Given the description of an element on the screen output the (x, y) to click on. 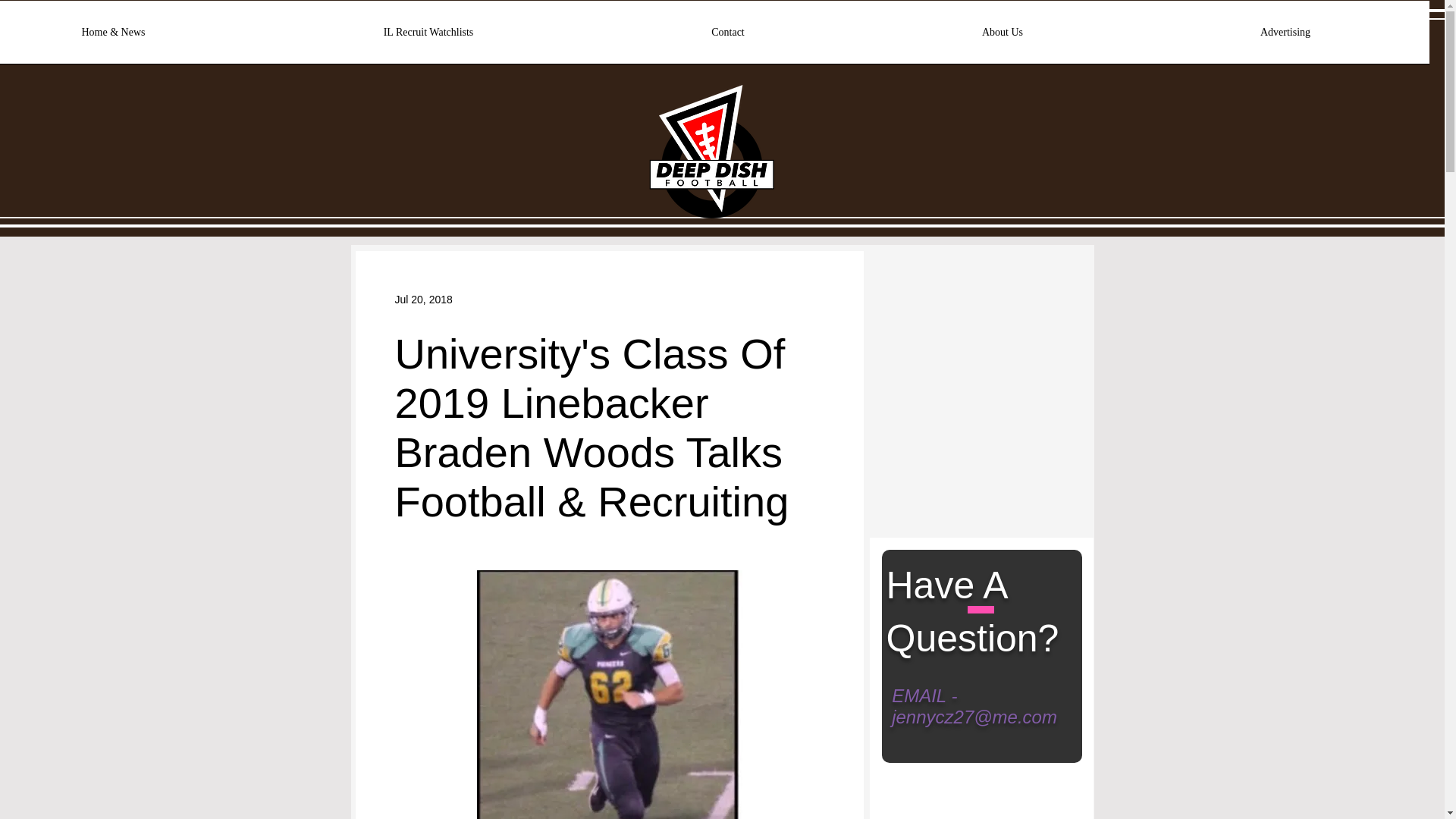
Contact (727, 36)
IL Recruit Watchlists (427, 36)
Advertising (1285, 36)
Twitter Follow (932, 289)
Jul 20, 2018 (422, 298)
About Us (1002, 36)
